Given the description of an element on the screen output the (x, y) to click on. 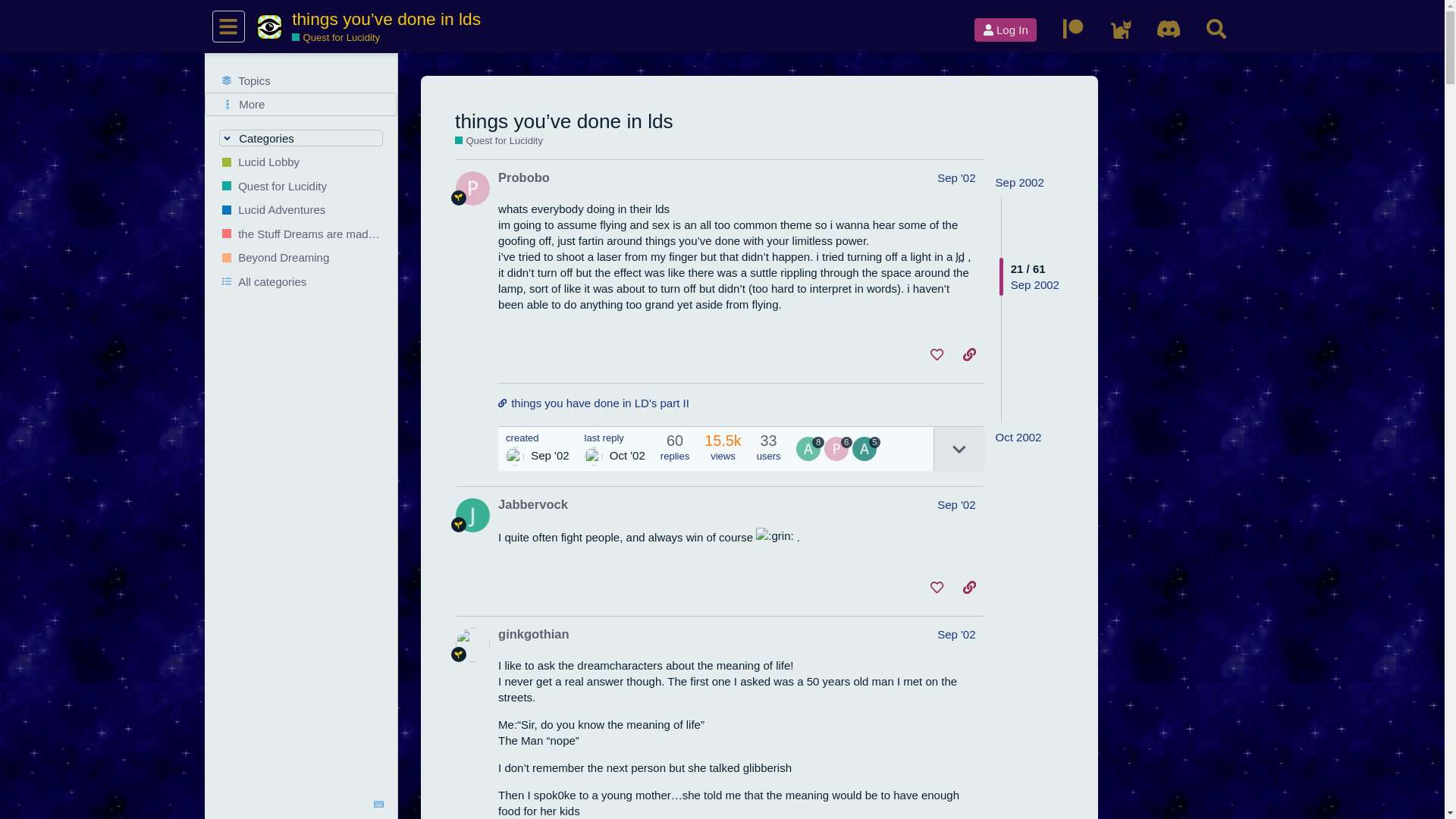
Probobo (523, 177)
Lucid Lobby (301, 161)
6 (837, 448)
Quest for Lucidity (336, 37)
Search (1215, 29)
last reply (615, 438)
LD4all IRC Chat (1121, 29)
Quest for Lucidity (498, 141)
Everything to show you around and make you feel at home. (301, 161)
Sidebar (228, 26)
Oct 2002 (1018, 437)
Toggle section (301, 137)
All categories (301, 282)
Every subject dealing with how to become lucid. (498, 141)
Sep 2002 (1019, 182)
